Given the description of an element on the screen output the (x, y) to click on. 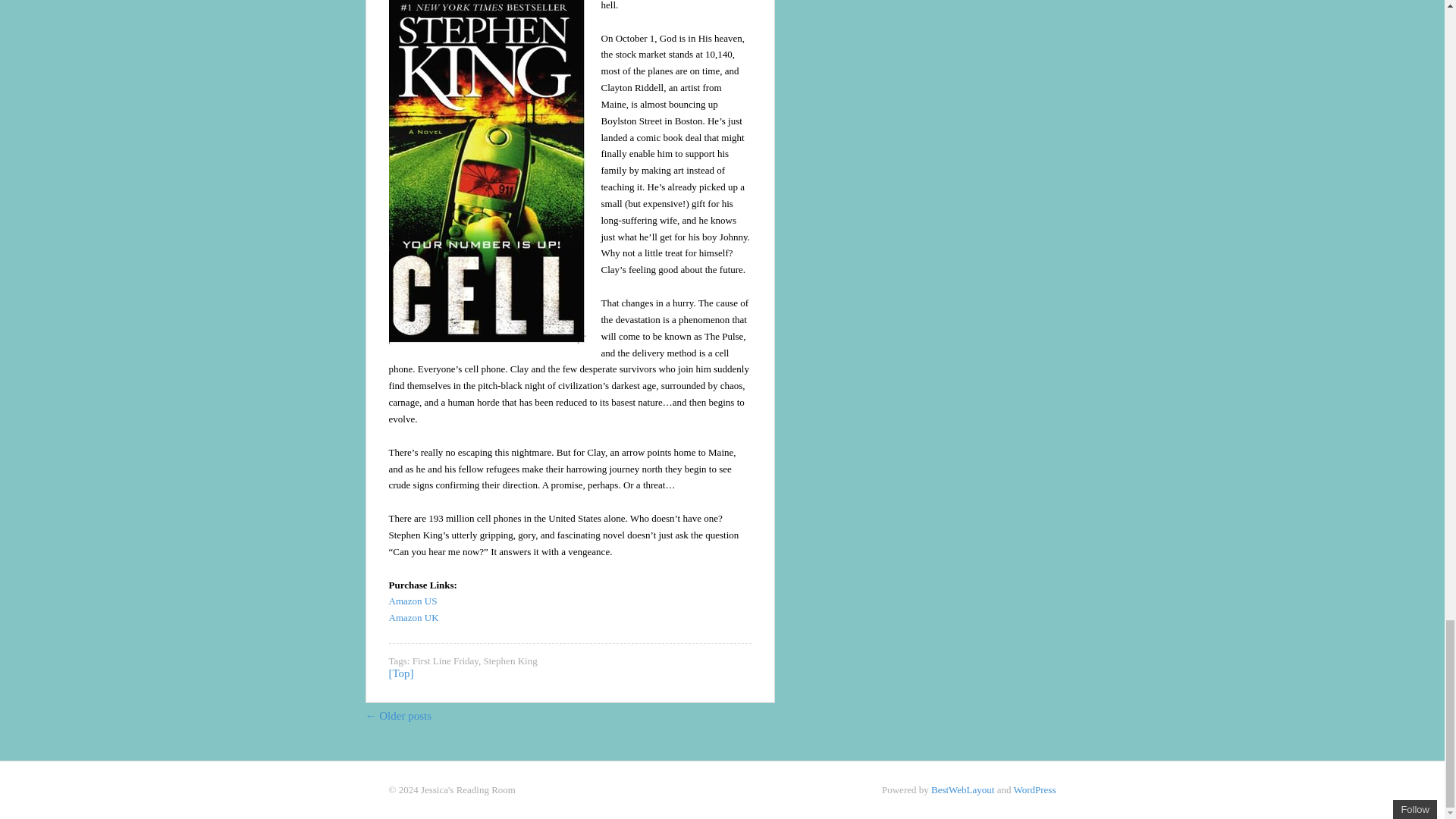
Stephen King (510, 660)
Amazon US (412, 600)
First Line Friday (445, 660)
Amazon UK (413, 617)
